Given the description of an element on the screen output the (x, y) to click on. 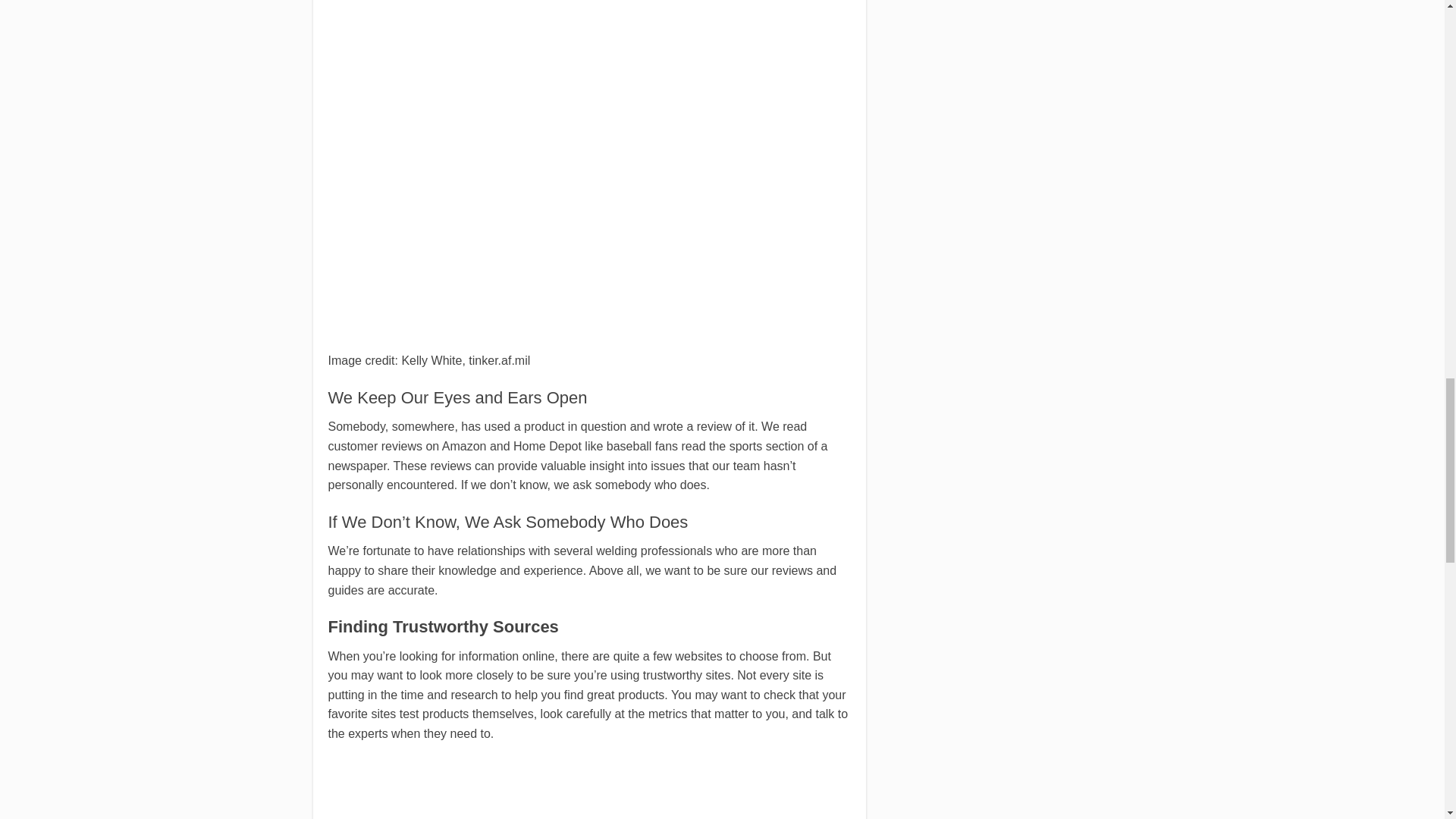
Welding and Metal Fabrication (384, 789)
